Given the description of an element on the screen output the (x, y) to click on. 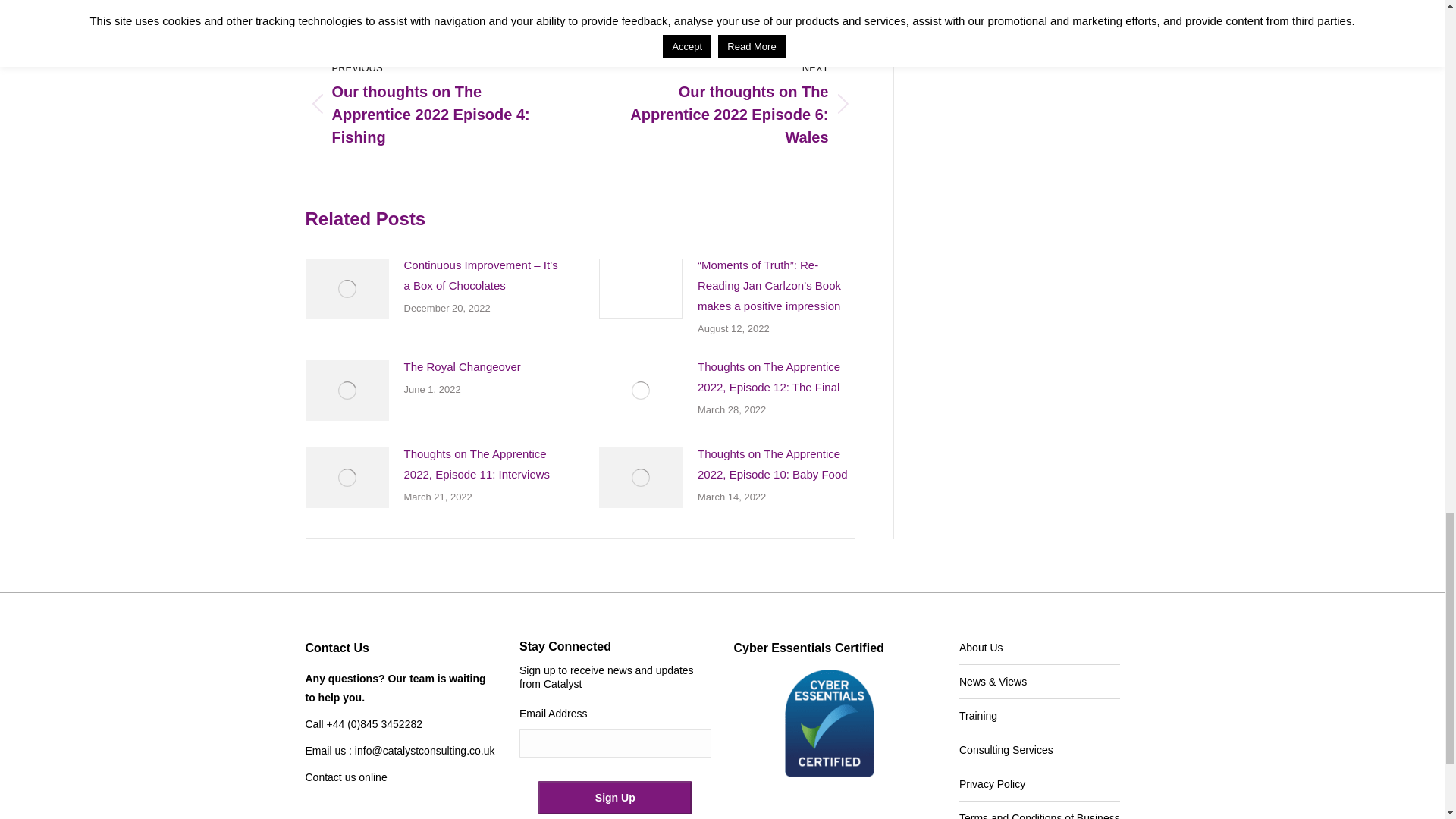
Sign Up (614, 797)
